Given the description of an element on the screen output the (x, y) to click on. 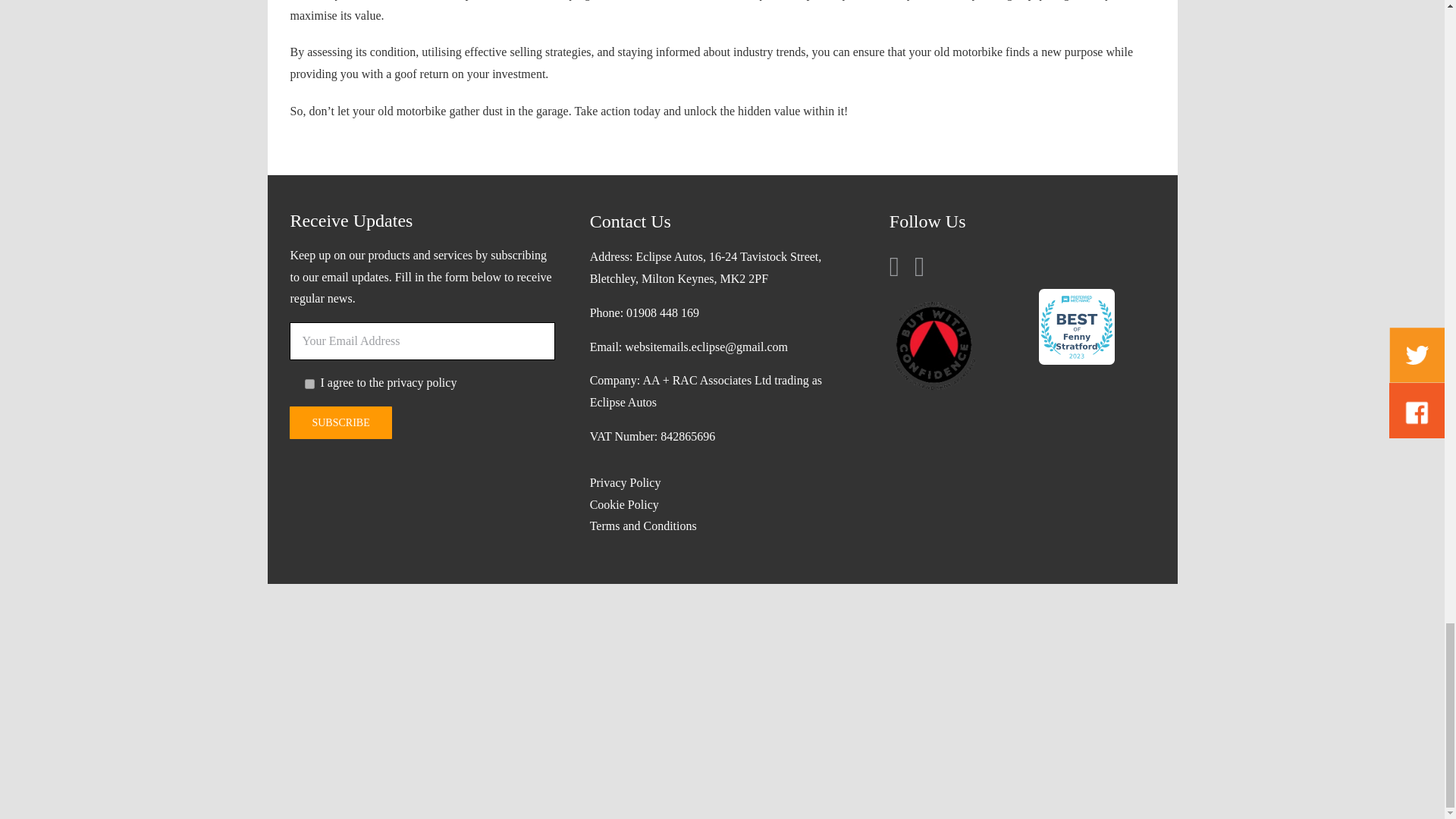
I agree to the (309, 384)
SUBSCRIBE (340, 422)
